Given the description of an element on the screen output the (x, y) to click on. 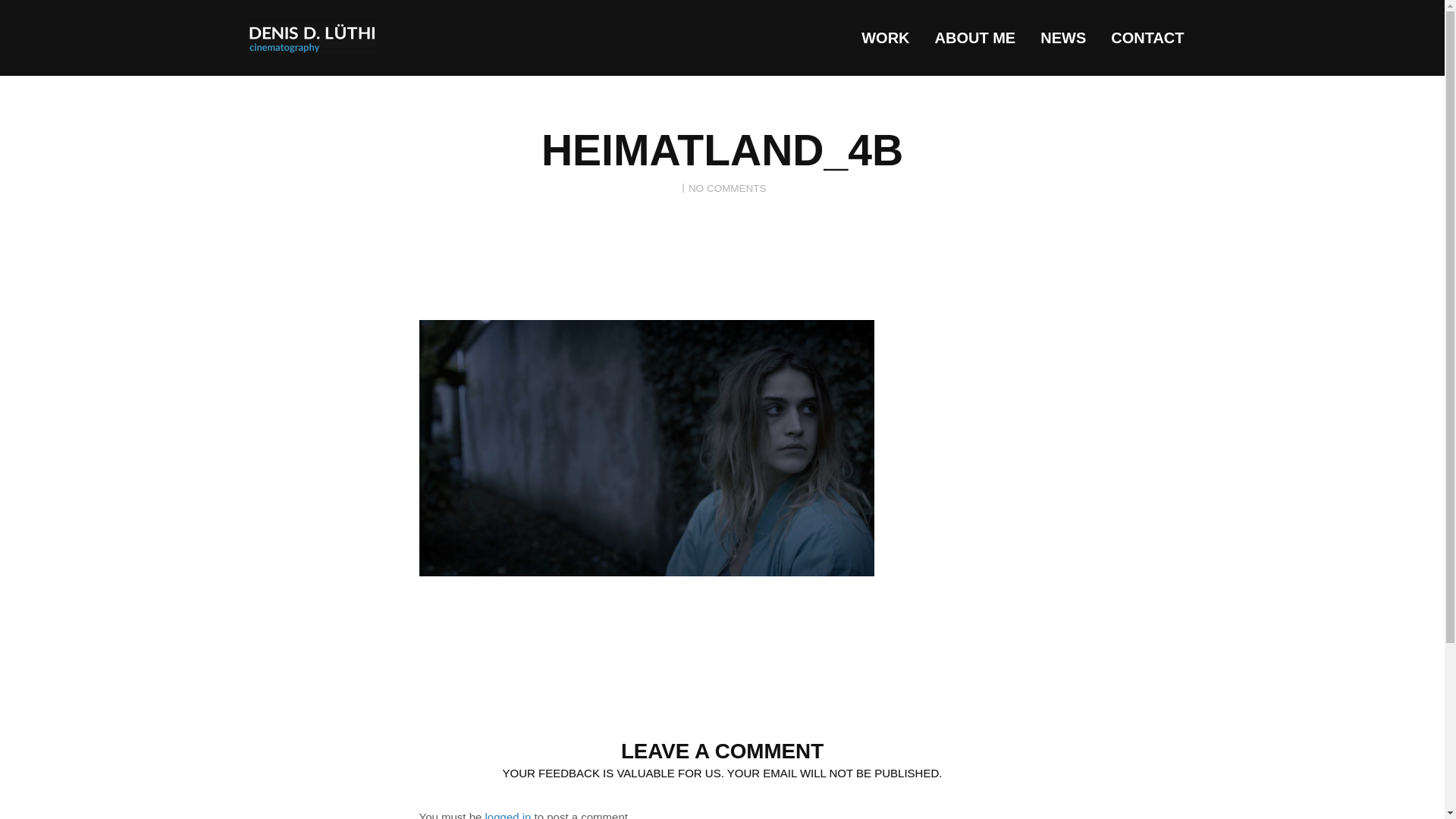
NEWS (1062, 38)
IMPRINT (1131, 768)
NO COMMENTS (727, 188)
WORK (884, 38)
ABOUT ME (975, 38)
To Top (1179, 768)
logged in (507, 814)
CONTACT (1147, 38)
